Given the description of an element on the screen output the (x, y) to click on. 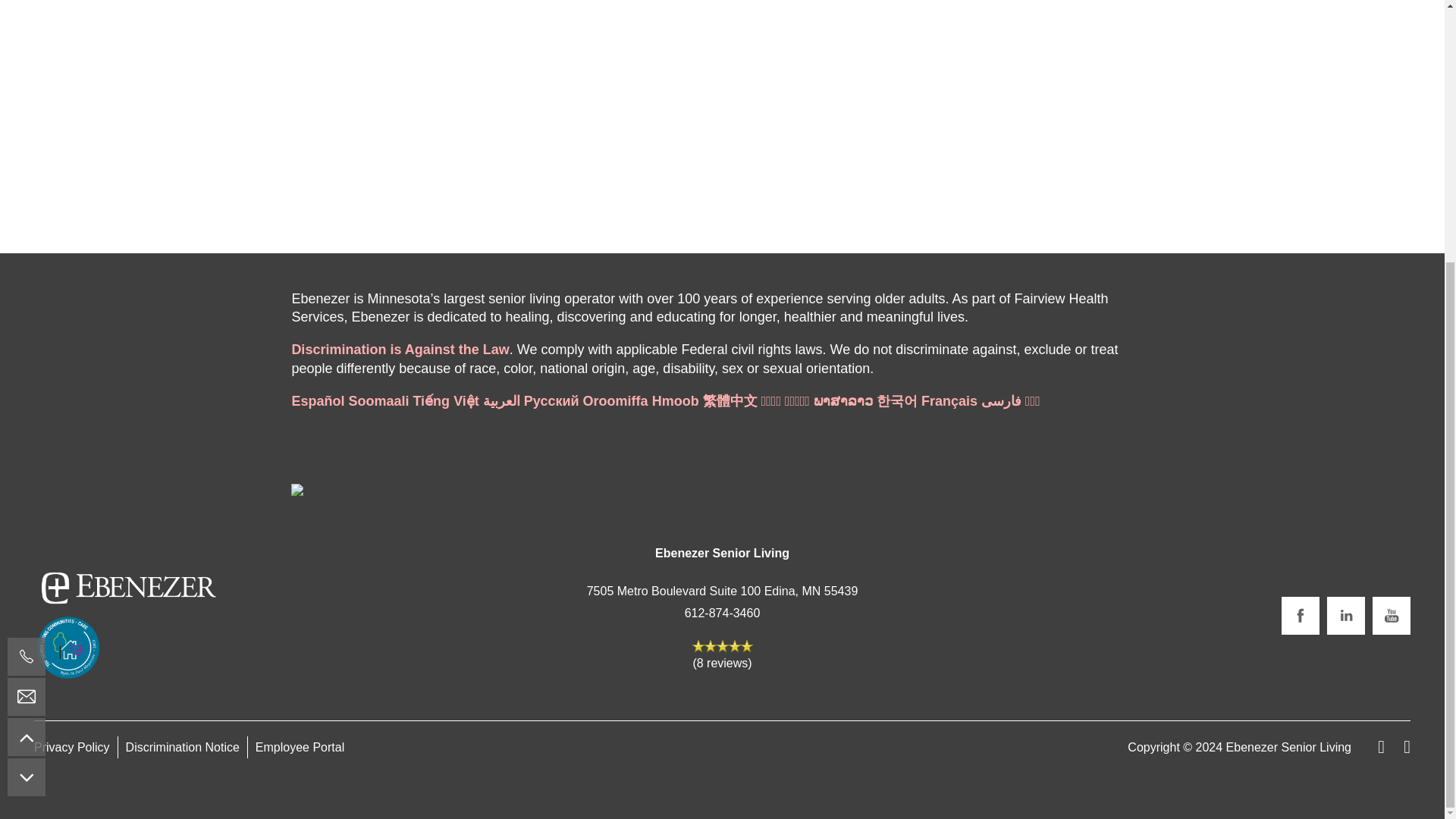
Phone Number (26, 279)
Soomaali (378, 400)
Email (26, 320)
Scroll Up (26, 360)
LinkedIn (1345, 615)
Facebook (1300, 615)
Discrimination is Against the Law (399, 349)
YouTube (1391, 615)
Scroll Down (26, 400)
